Given the description of an element on the screen output the (x, y) to click on. 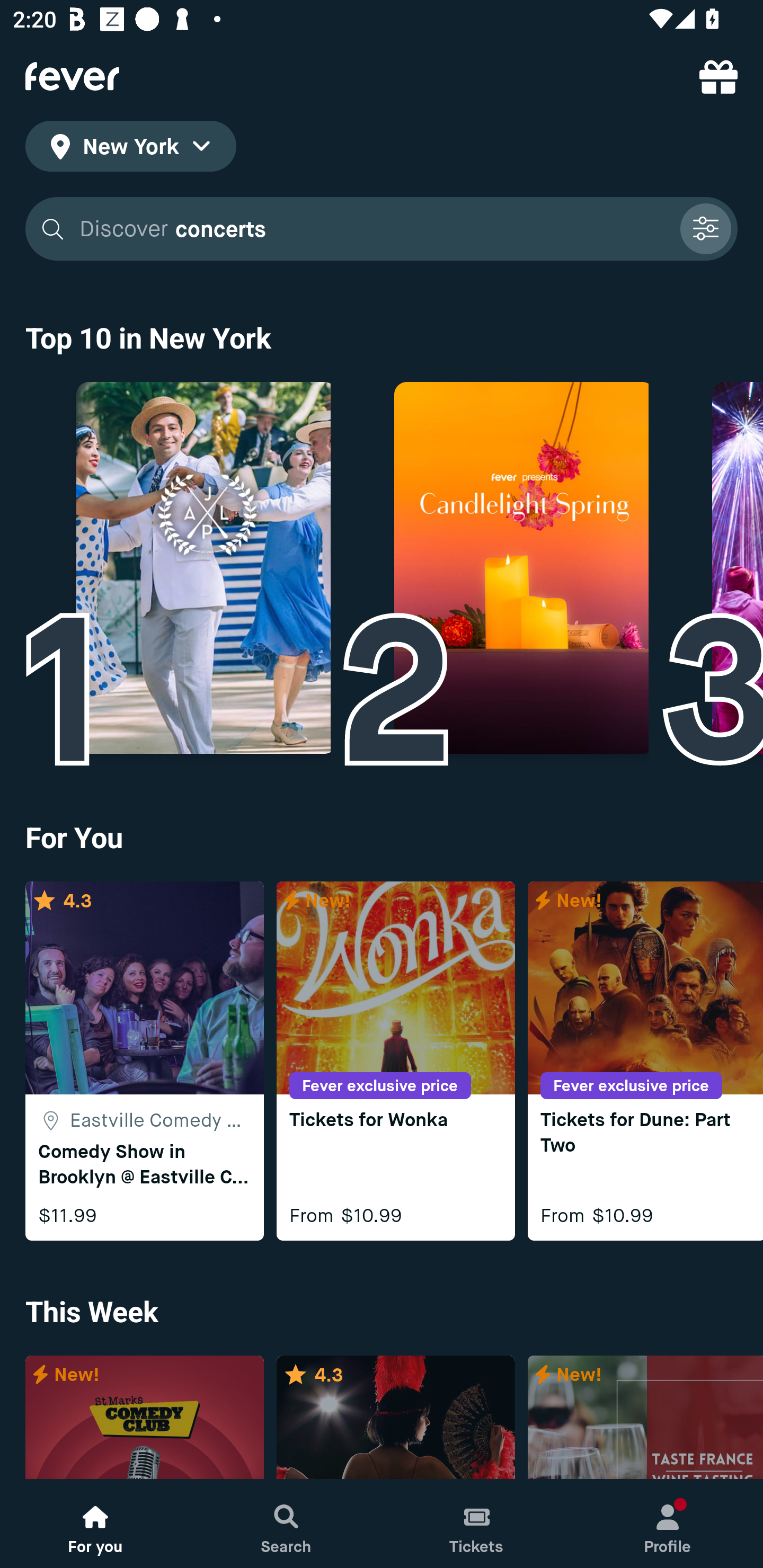
referral (718, 75)
location icon New York location icon (130, 149)
Discover concerts (381, 228)
Discover concerts (373, 228)
cover image New! label New! Fever exclusive (144, 1417)
cover image 50.0 4.3 (395, 1417)
cover image New! label New! (645, 1417)
Search (285, 1523)
Tickets (476, 1523)
Profile, New notification Profile (667, 1523)
